Given the description of an element on the screen output the (x, y) to click on. 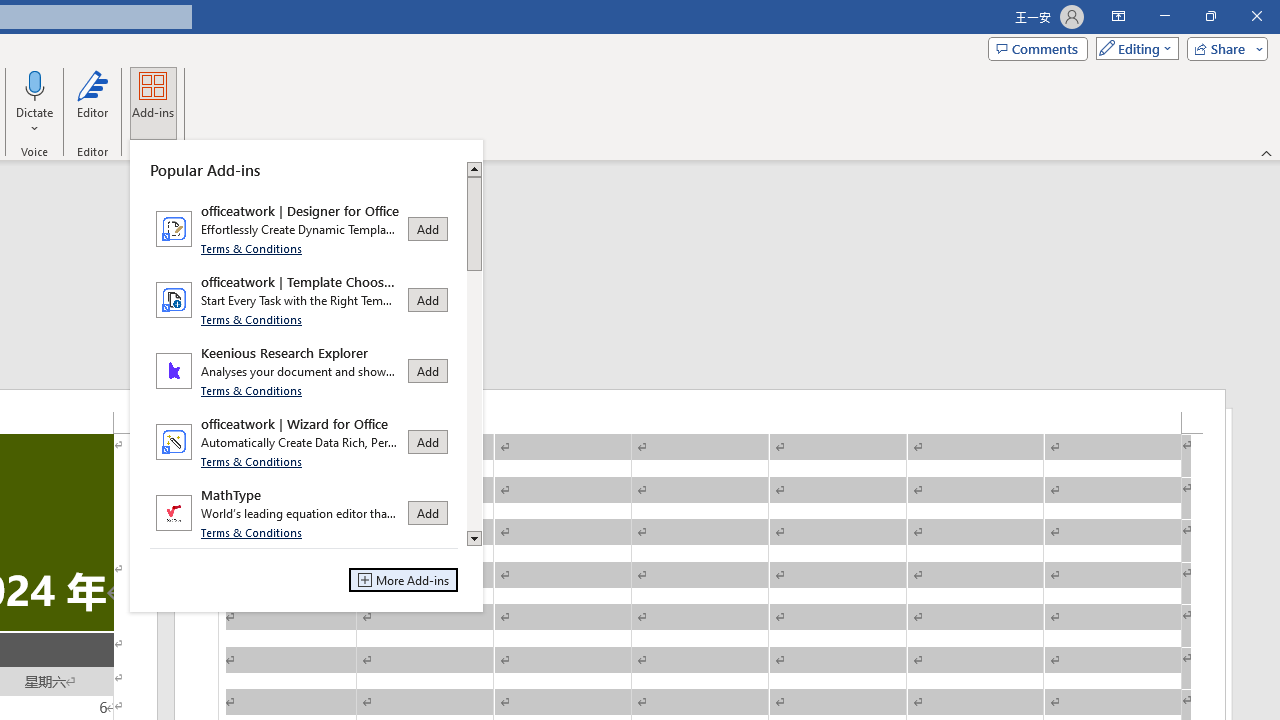
MathType (303, 512)
officeatwork | Template Chooser for Office - M365 (303, 299)
Keenious Research Explorer (303, 370)
officeatwork | Wizard for Office (303, 441)
Terms & Conditions (252, 532)
Line up (473, 168)
Line down (473, 539)
